Given the description of an element on the screen output the (x, y) to click on. 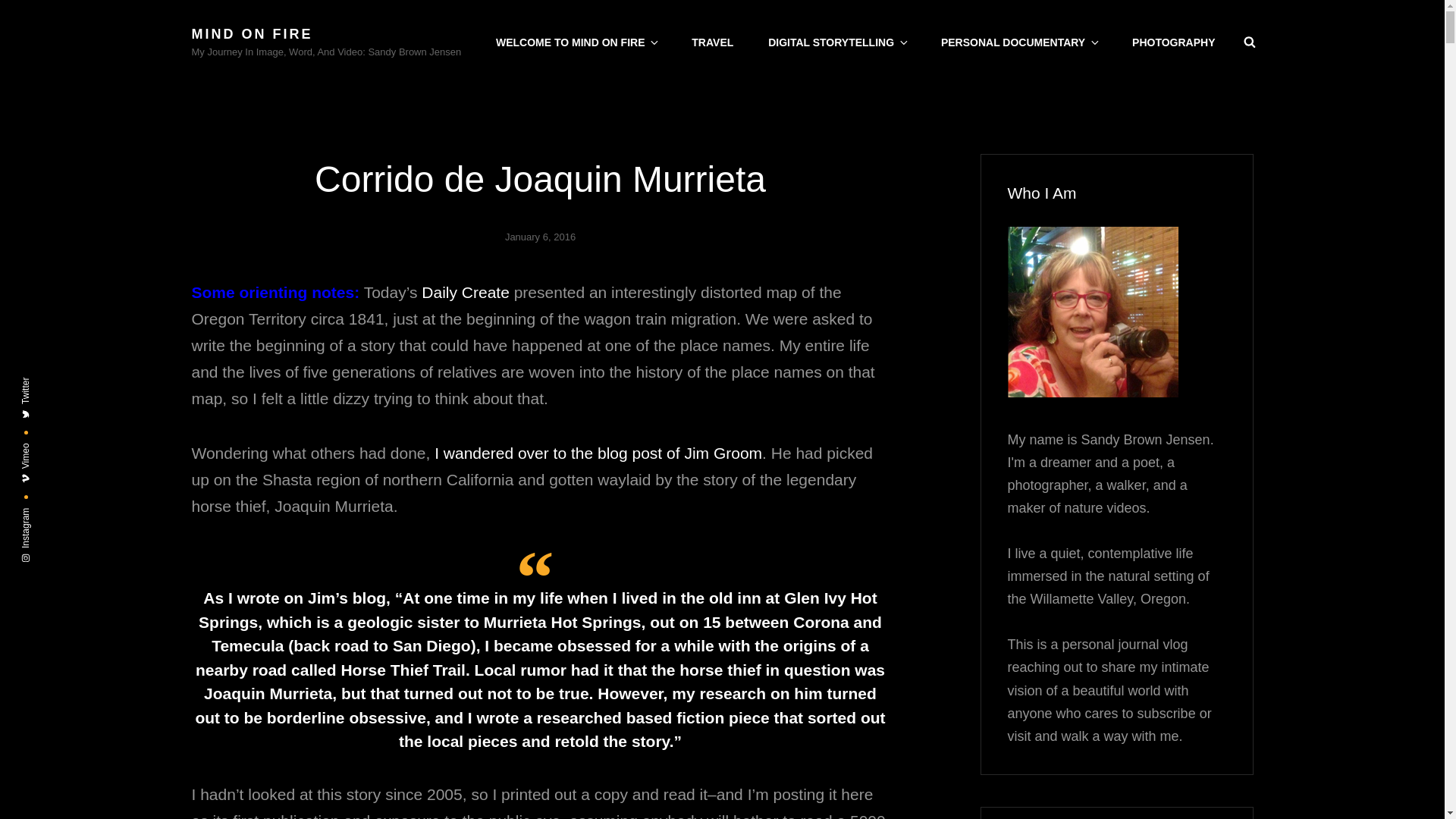
Instagram (44, 515)
DIGITAL STORYTELLING (836, 42)
PHOTOGRAPHY (1173, 42)
WELCOME TO MIND ON FIRE (576, 42)
MIND ON FIRE (251, 33)
PERSONAL DOCUMENTARY (1019, 42)
Vimeo (37, 450)
TRAVEL (712, 42)
Twitter (38, 385)
I wandered over to the blog post of Jim Groom (597, 452)
January 6, 2016 (540, 236)
Daily Create (465, 292)
SEARCH (1249, 42)
